Given the description of an element on the screen output the (x, y) to click on. 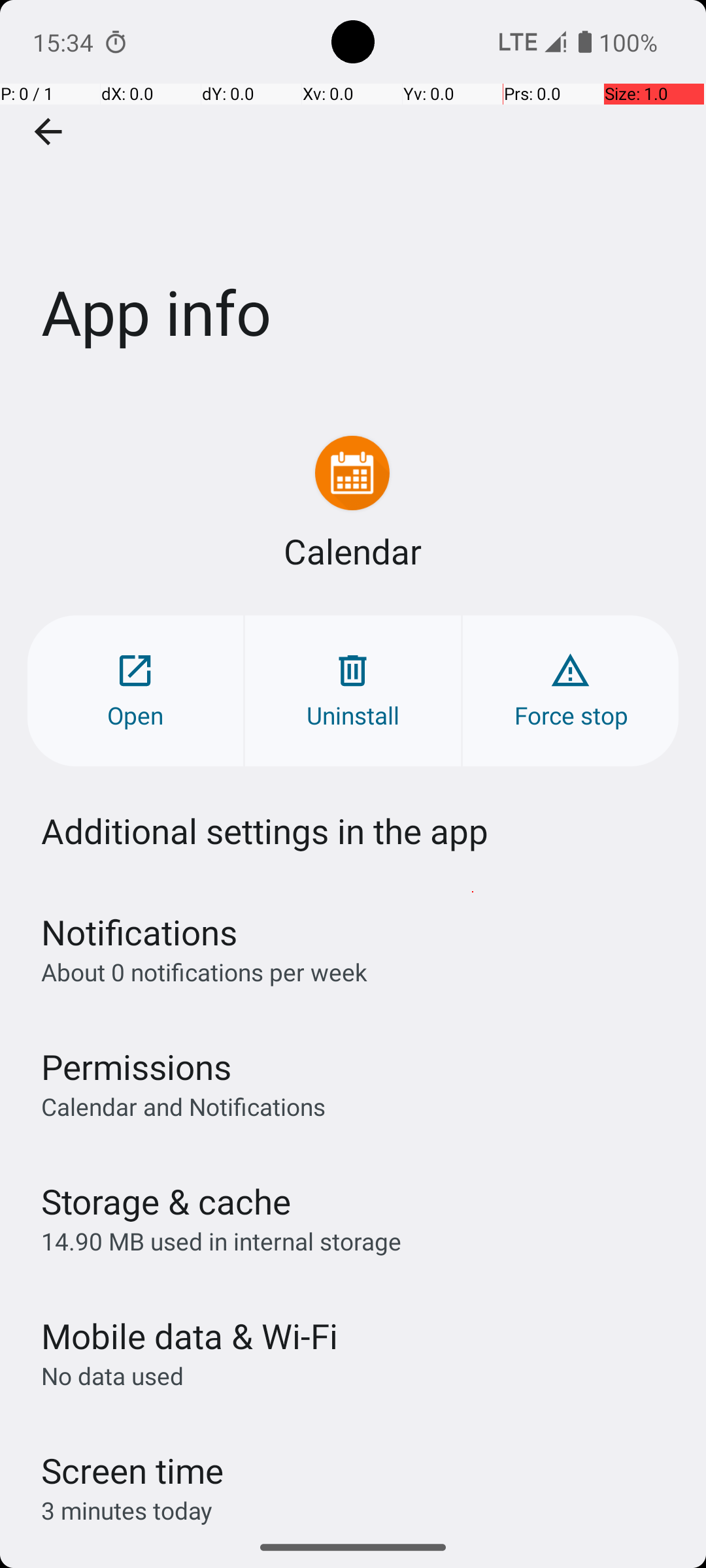
Uninstall Element type: android.widget.Button (352, 690)
Additional settings in the app Element type: android.widget.TextView (264, 830)
About 0 notifications per week Element type: android.widget.TextView (204, 971)
Calendar and Notifications Element type: android.widget.TextView (183, 1106)
14.90 MB used in internal storage Element type: android.widget.TextView (221, 1240)
3 minutes today Element type: android.widget.TextView (127, 1509)
